Given the description of an element on the screen output the (x, y) to click on. 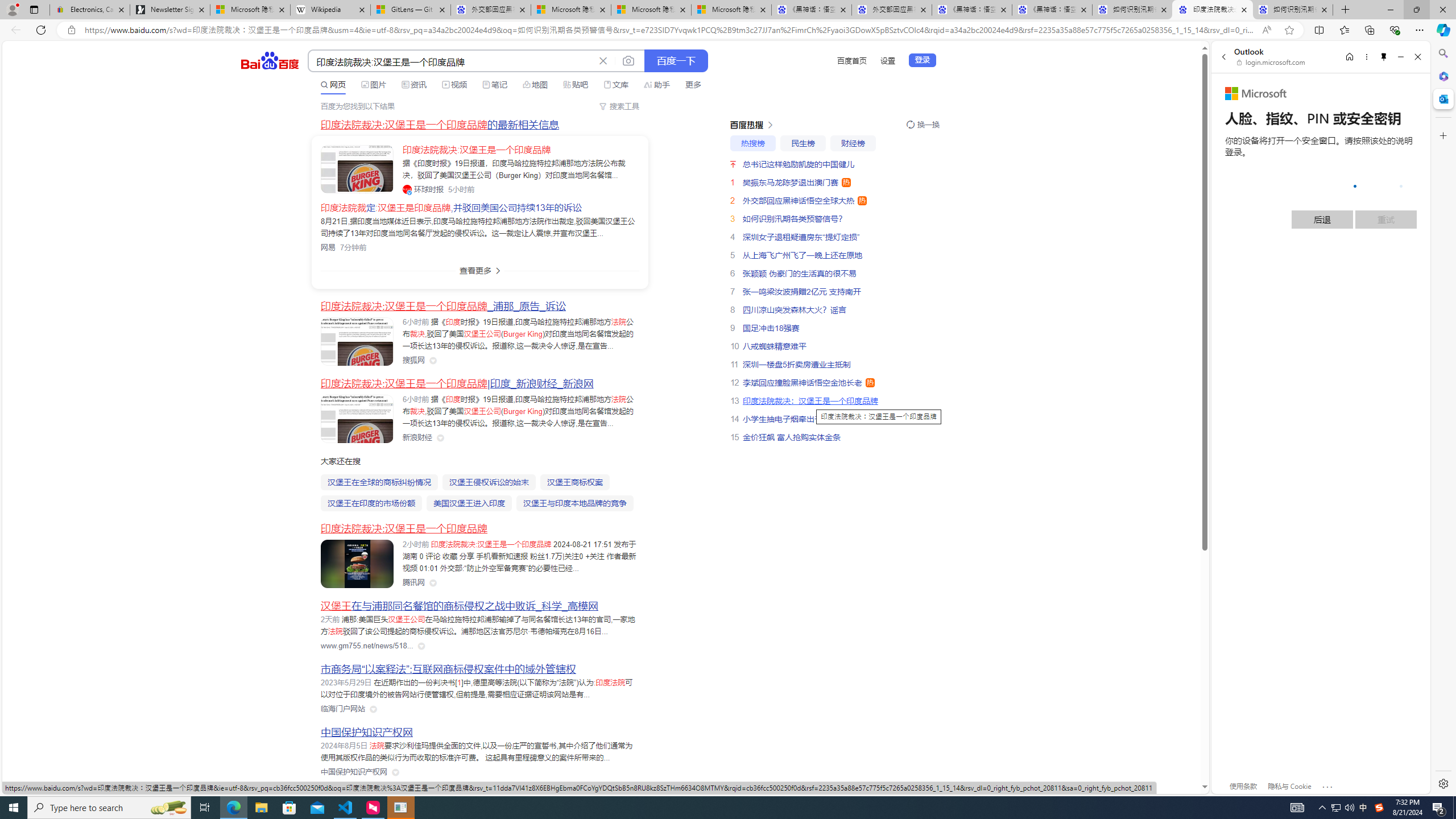
Electronics, Cars, Fashion, Collectibles & More | eBay (90, 9)
login.microsoft.com (1271, 61)
